Given the description of an element on the screen output the (x, y) to click on. 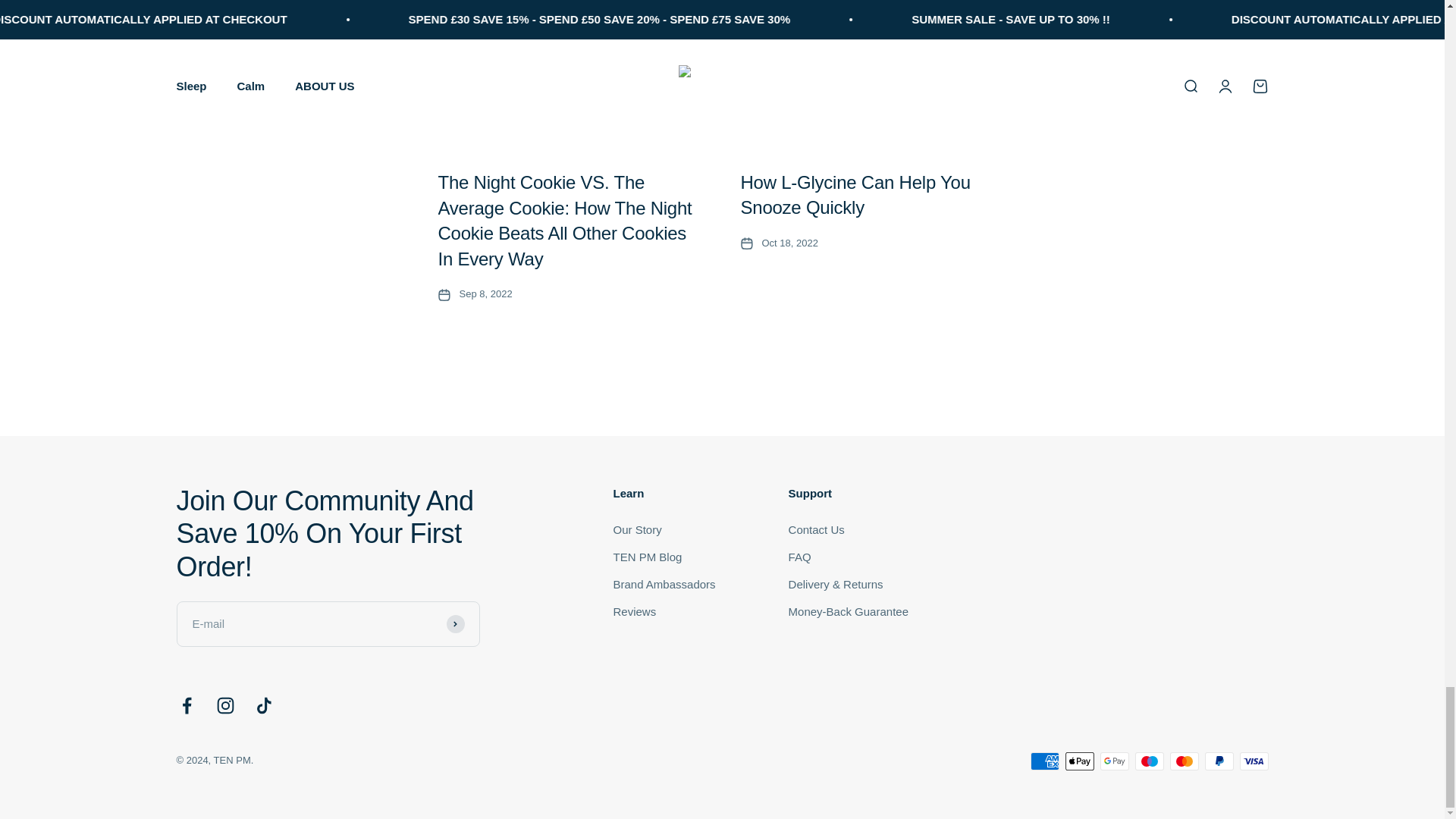
TEN PM Blog (646, 556)
Our Story (636, 529)
Subscribe (454, 624)
How L-Glycine Can Help You Snooze Quickly (854, 194)
Brand Ambassadors (663, 584)
Contact Us (816, 529)
Money-Back Guarantee (848, 611)
FAQ (799, 556)
Reviews (634, 611)
